Given the description of an element on the screen output the (x, y) to click on. 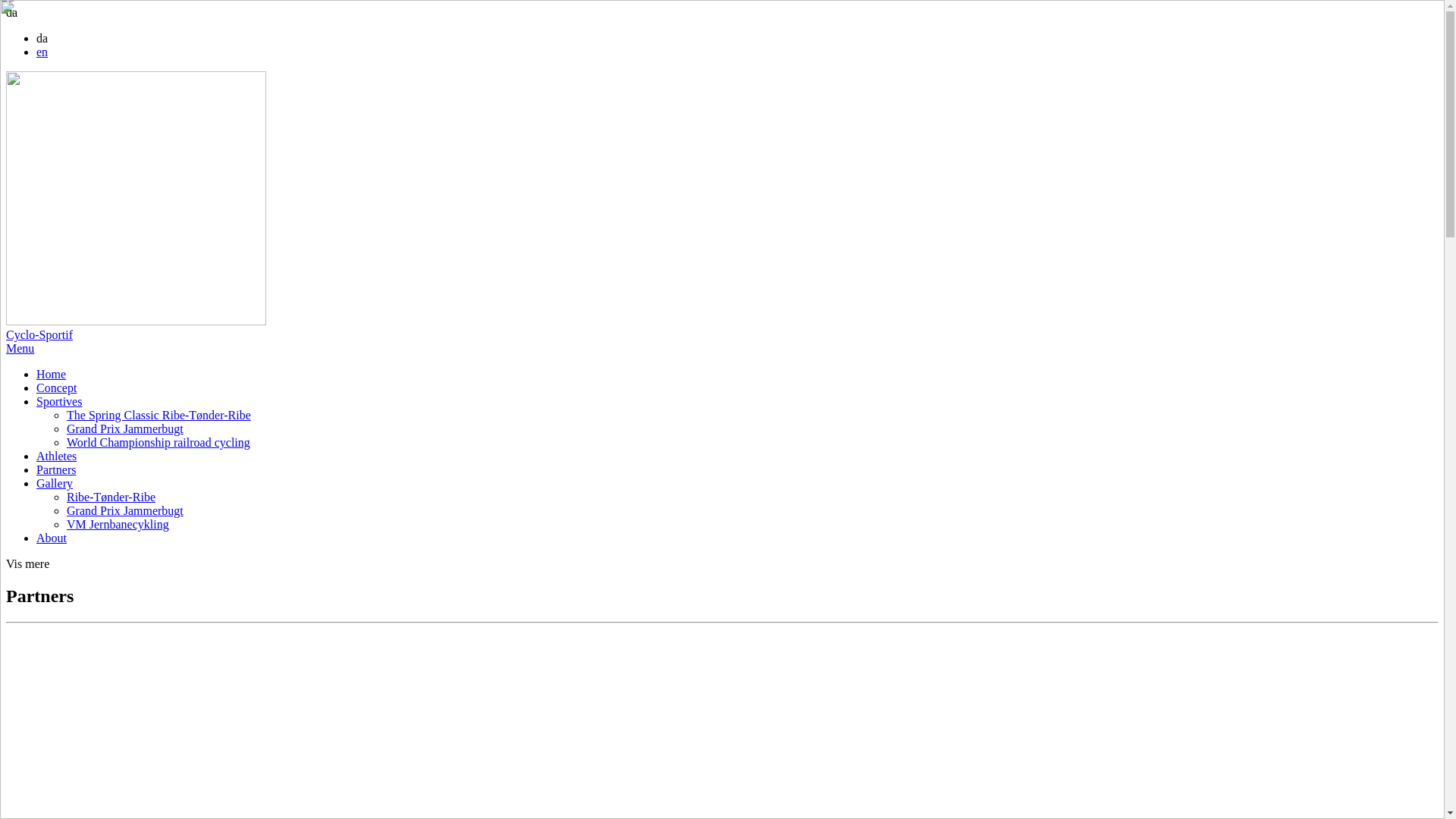
en Element type: text (41, 51)
About Element type: text (51, 537)
Partners Element type: text (55, 469)
VM Jernbanecykling Element type: text (117, 523)
Grand Prix Jammerbugt Element type: text (124, 428)
Menu Element type: text (20, 348)
Gallery Element type: text (54, 482)
Cyclo-Sportif Element type: text (722, 206)
Sportives Element type: text (58, 401)
Home Element type: text (50, 373)
Concept Element type: text (56, 387)
Athletes Element type: text (56, 455)
World Championship railroad cycling Element type: text (158, 442)
Grand Prix Jammerbugt Element type: text (124, 510)
